Given the description of an element on the screen output the (x, y) to click on. 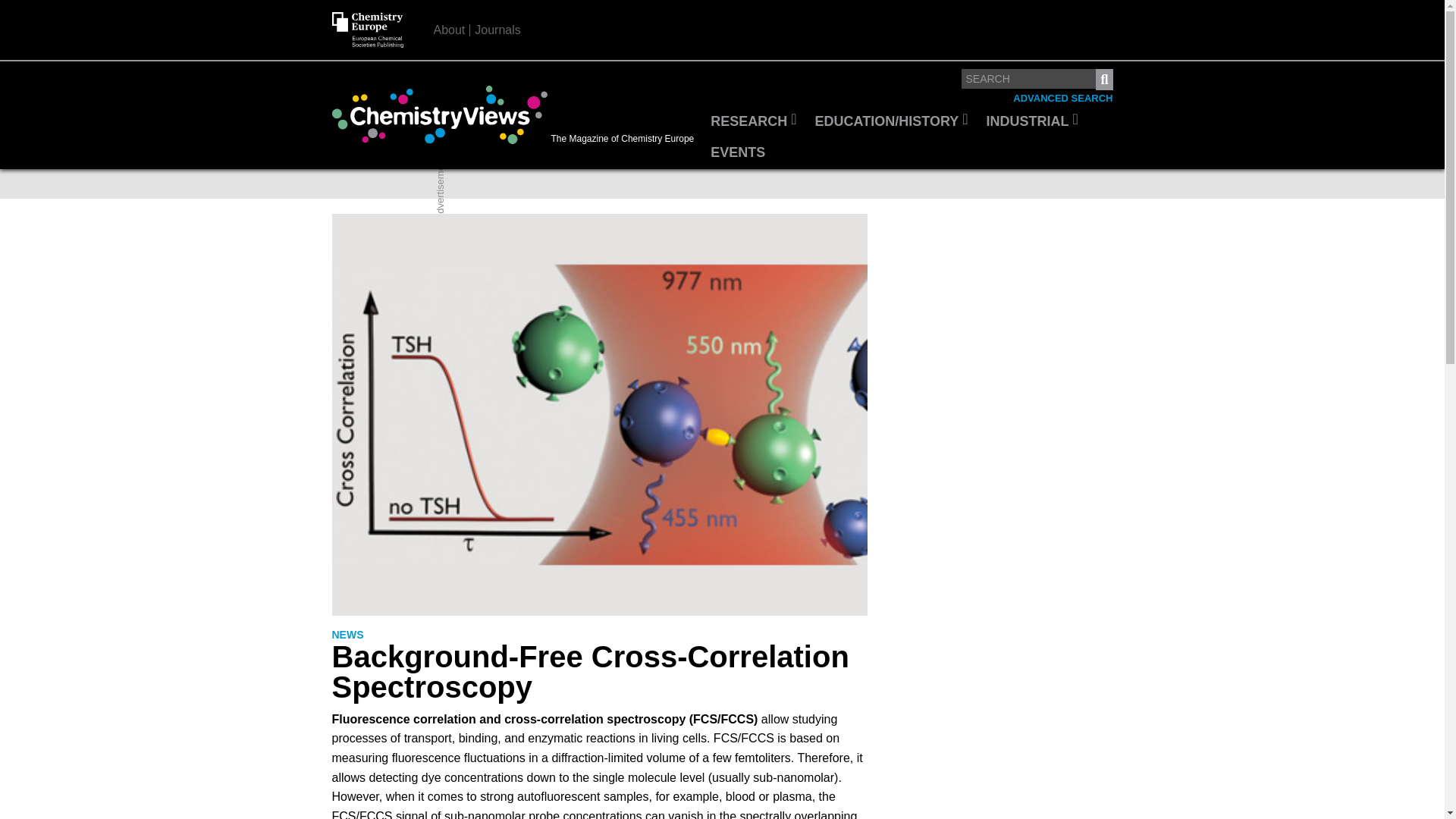
The Magazine of Chemistry Europe (516, 114)
ADVANCED SEARCH (1062, 98)
EVENTS (737, 152)
INDUSTRIAL (1031, 122)
About (449, 29)
NEWS (347, 634)
Journals (496, 29)
RESEARCH (753, 122)
